Given the description of an element on the screen output the (x, y) to click on. 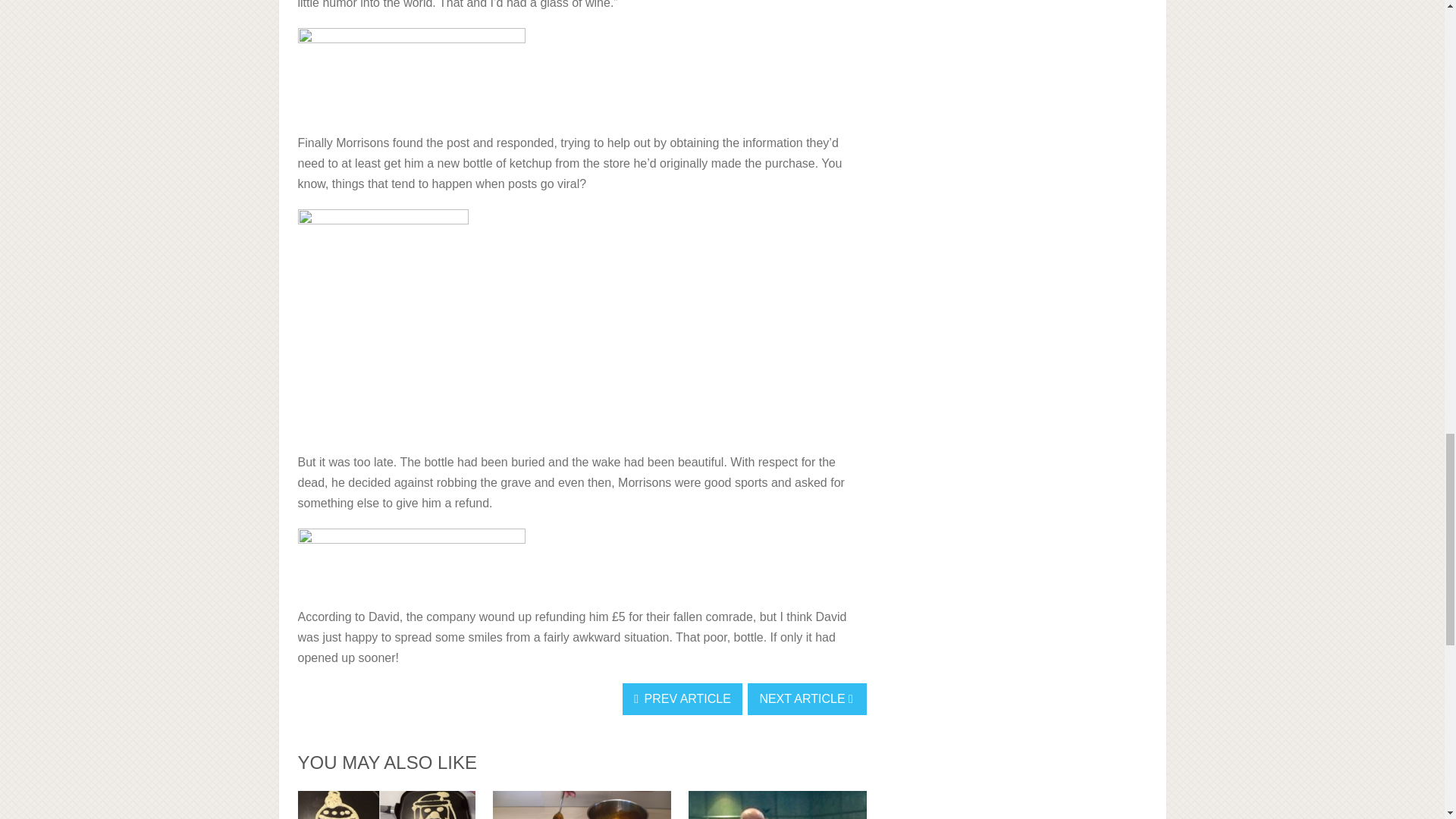
NEXT ARTICLE (807, 698)
PREV ARTICLE (682, 698)
